Given the description of an element on the screen output the (x, y) to click on. 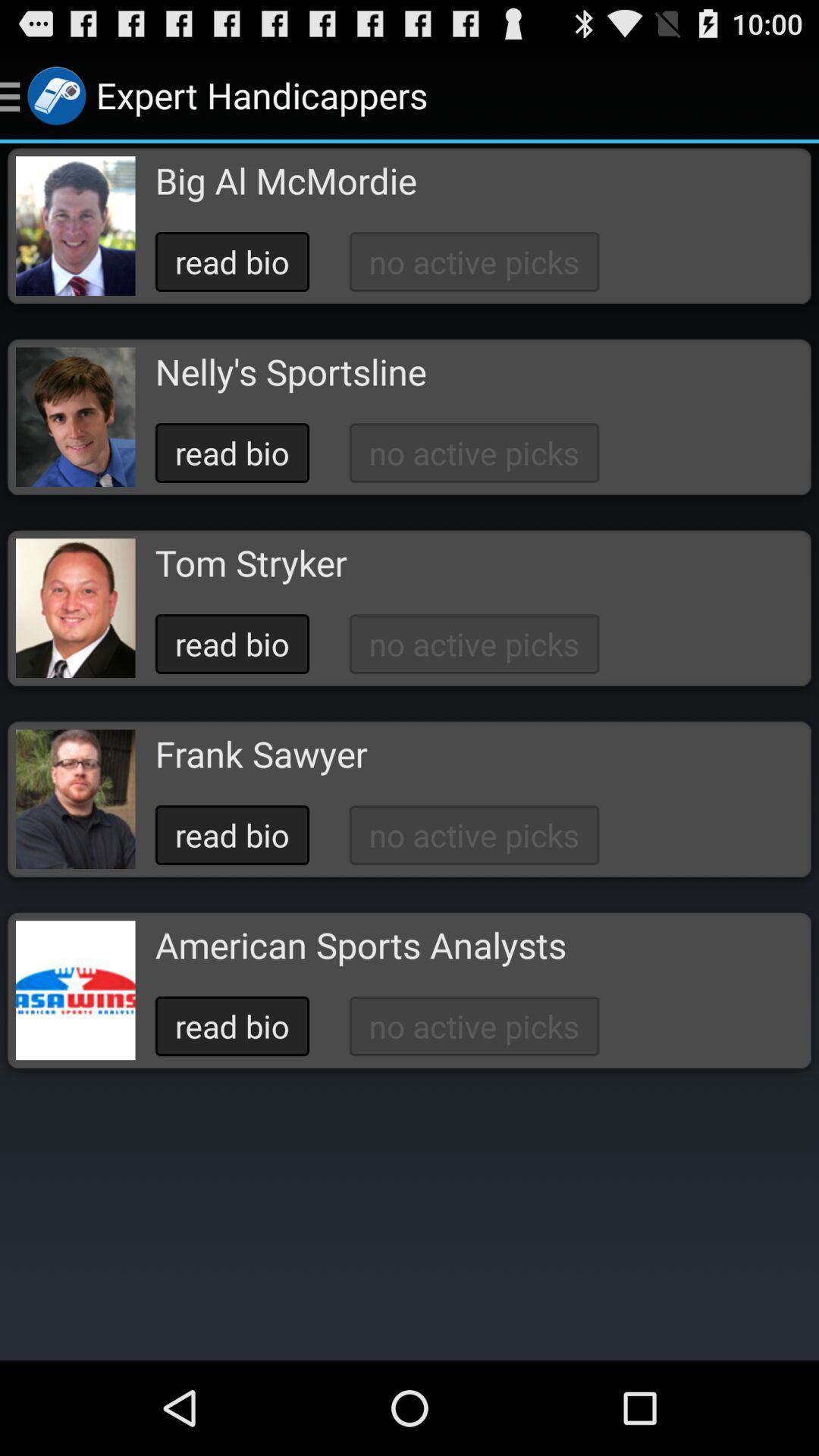
launch the button below the read bio icon (290, 371)
